Given the description of an element on the screen output the (x, y) to click on. 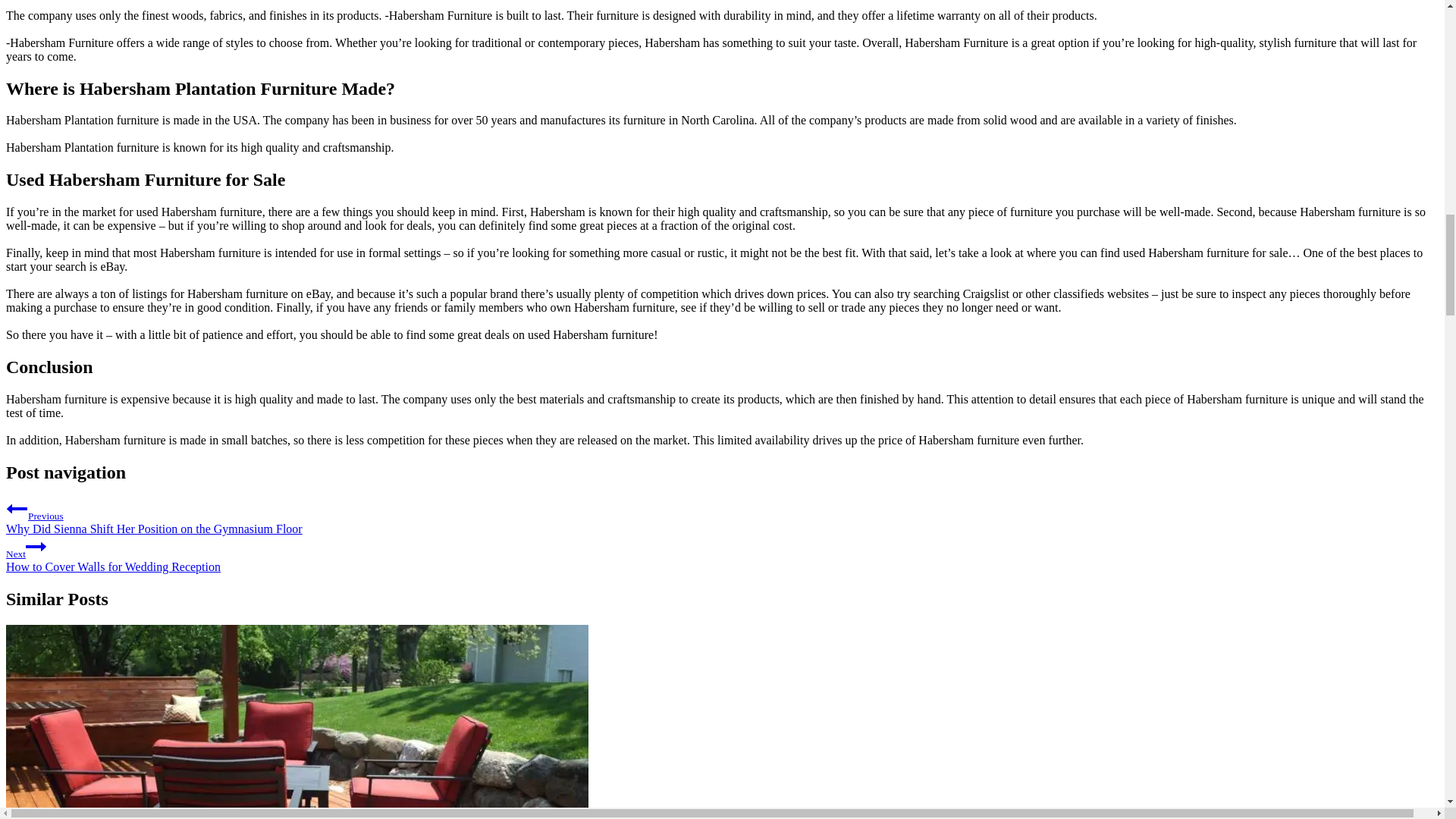
Previous (721, 554)
Continue (16, 508)
